Given the description of an element on the screen output the (x, y) to click on. 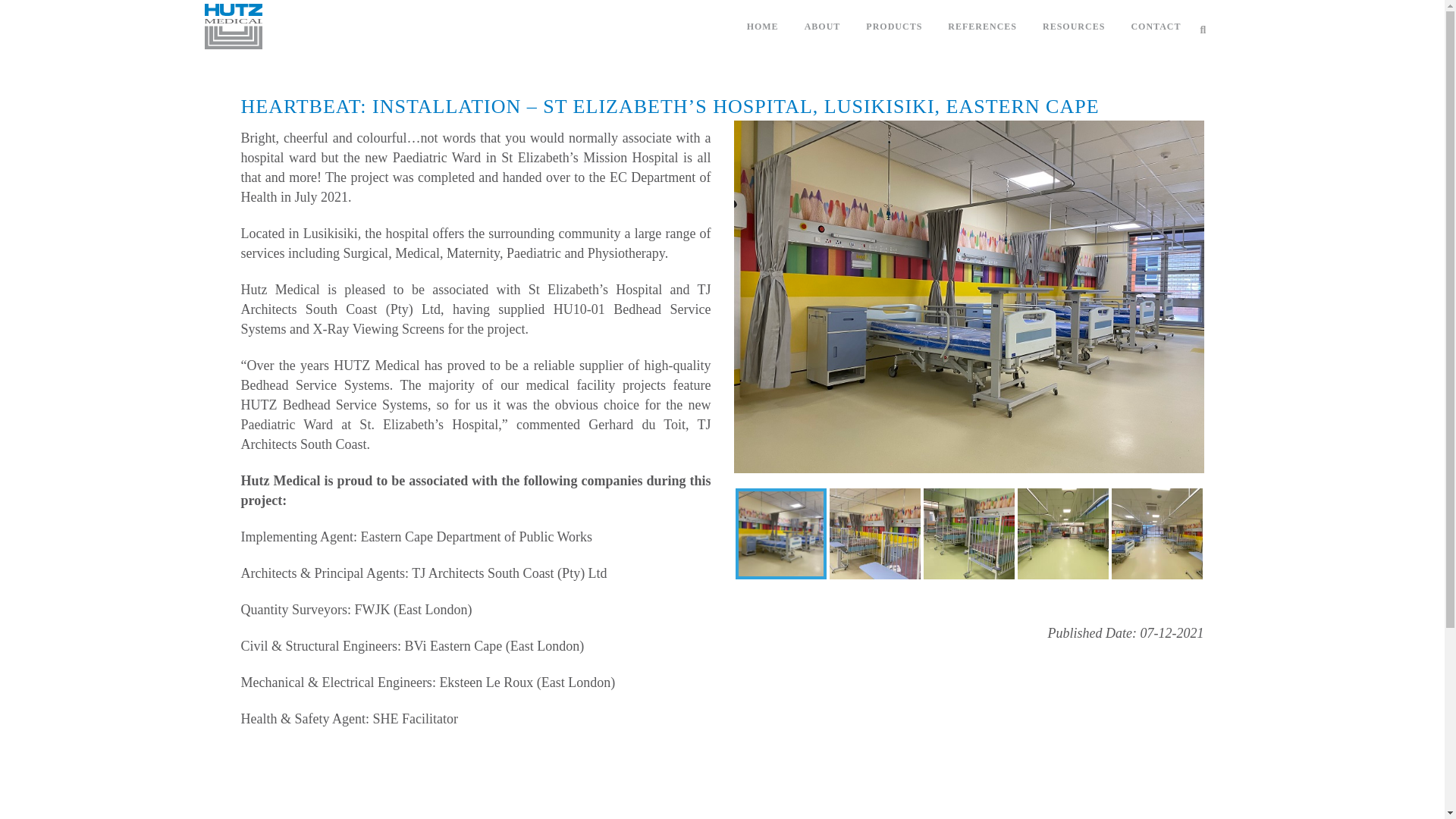
HOME (762, 26)
PRODUCTS (893, 26)
ABOUT (822, 26)
